Given the description of an element on the screen output the (x, y) to click on. 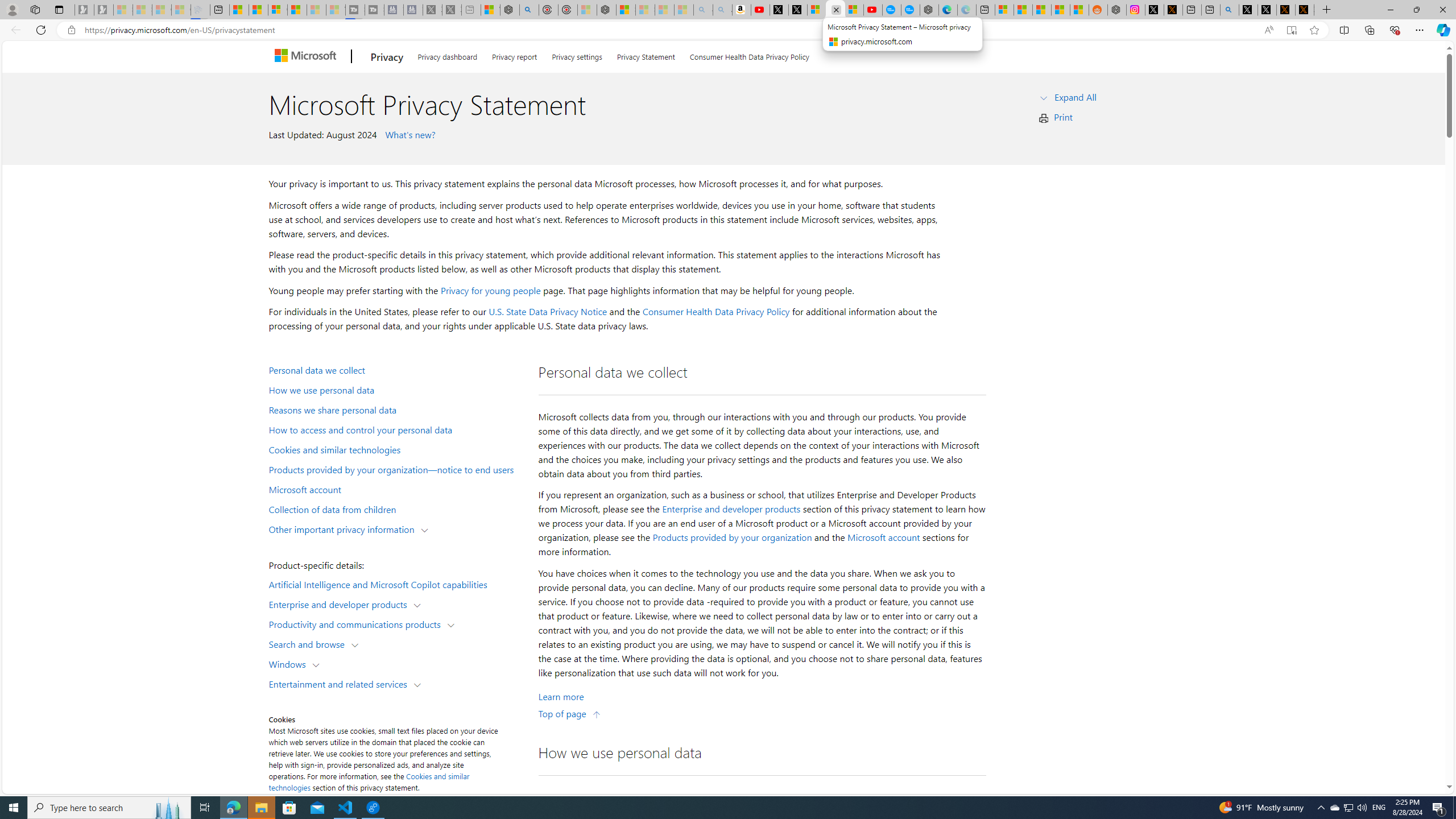
Search and browse (308, 643)
Privacy dashboard (447, 54)
Print (1063, 116)
Shanghai, China hourly forecast | Microsoft Weather (1041, 9)
Enterprise and developer products (340, 603)
Microsoft (306, 56)
